Given the description of an element on the screen output the (x, y) to click on. 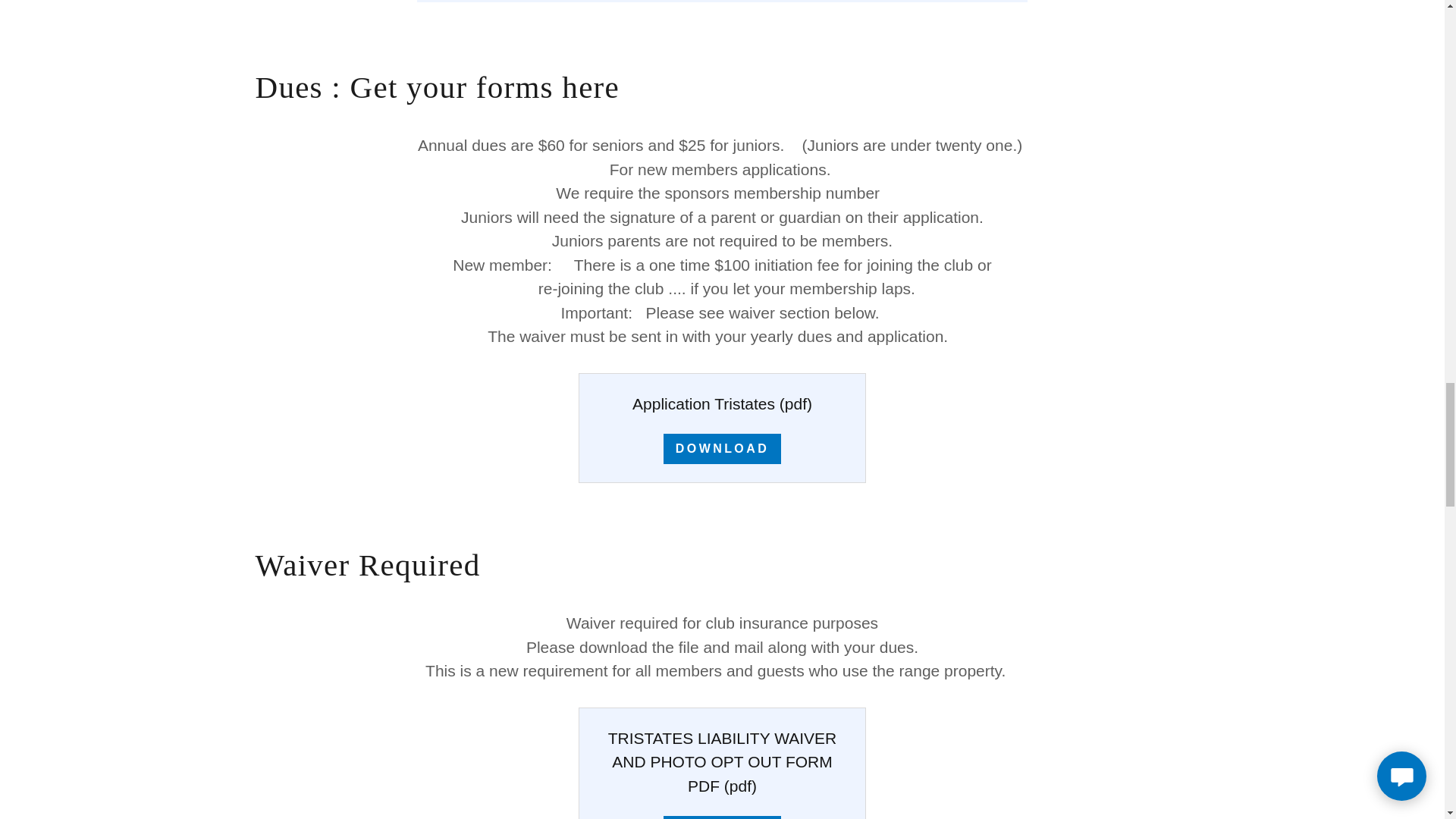
DOWNLOAD (721, 449)
DOWNLOAD (721, 817)
